Given the description of an element on the screen output the (x, y) to click on. 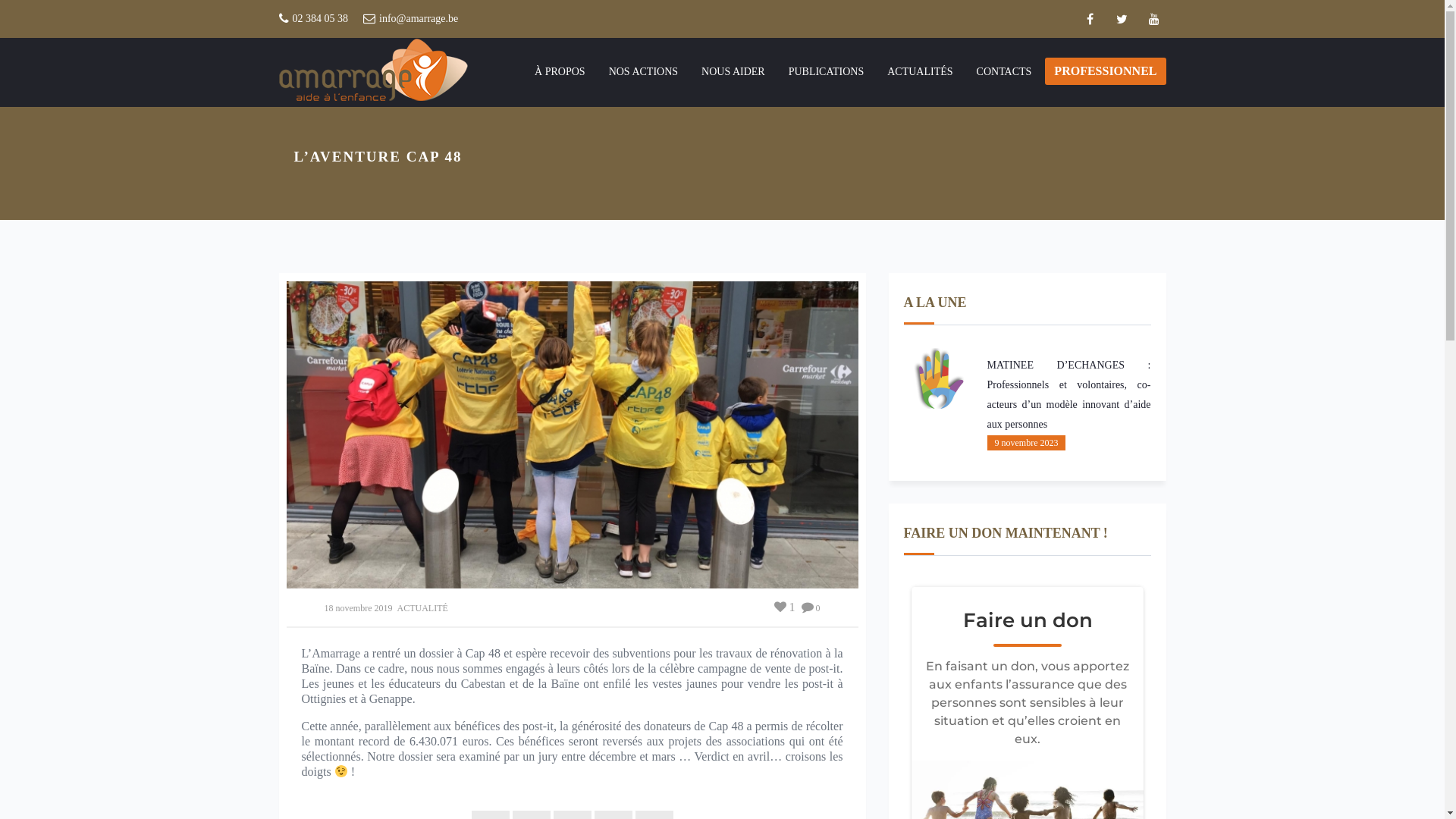
info@amarrage.be Element type: text (418, 18)
NOUS AIDER Element type: text (733, 71)
0 Element type: text (809, 607)
PROFESSIONNEL Element type: text (1104, 70)
NOS ACTIONS Element type: text (643, 71)
PUBLICATIONS Element type: text (826, 71)
18 novembre 2019 Element type: text (358, 607)
CONTACTS Element type: text (1003, 71)
02 384 05 38 Element type: text (320, 18)
